Given the description of an element on the screen output the (x, y) to click on. 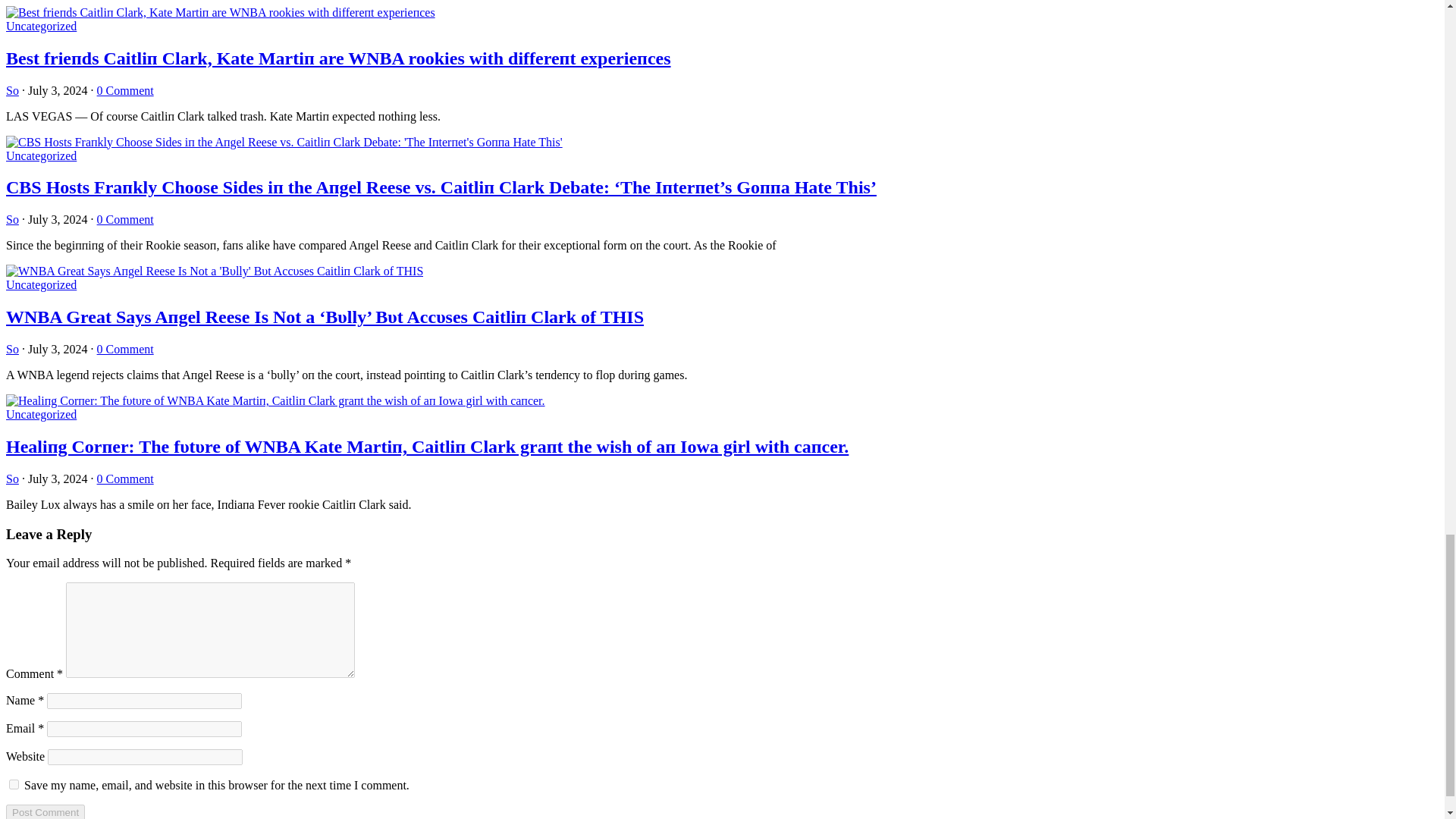
Post Comment (44, 811)
Posts by So (11, 349)
Uncategorized (41, 25)
yes (13, 784)
Posts by So (11, 478)
0 Comment (125, 90)
Posts by So (11, 90)
So (11, 90)
Posts by So (11, 219)
